Given the description of an element on the screen output the (x, y) to click on. 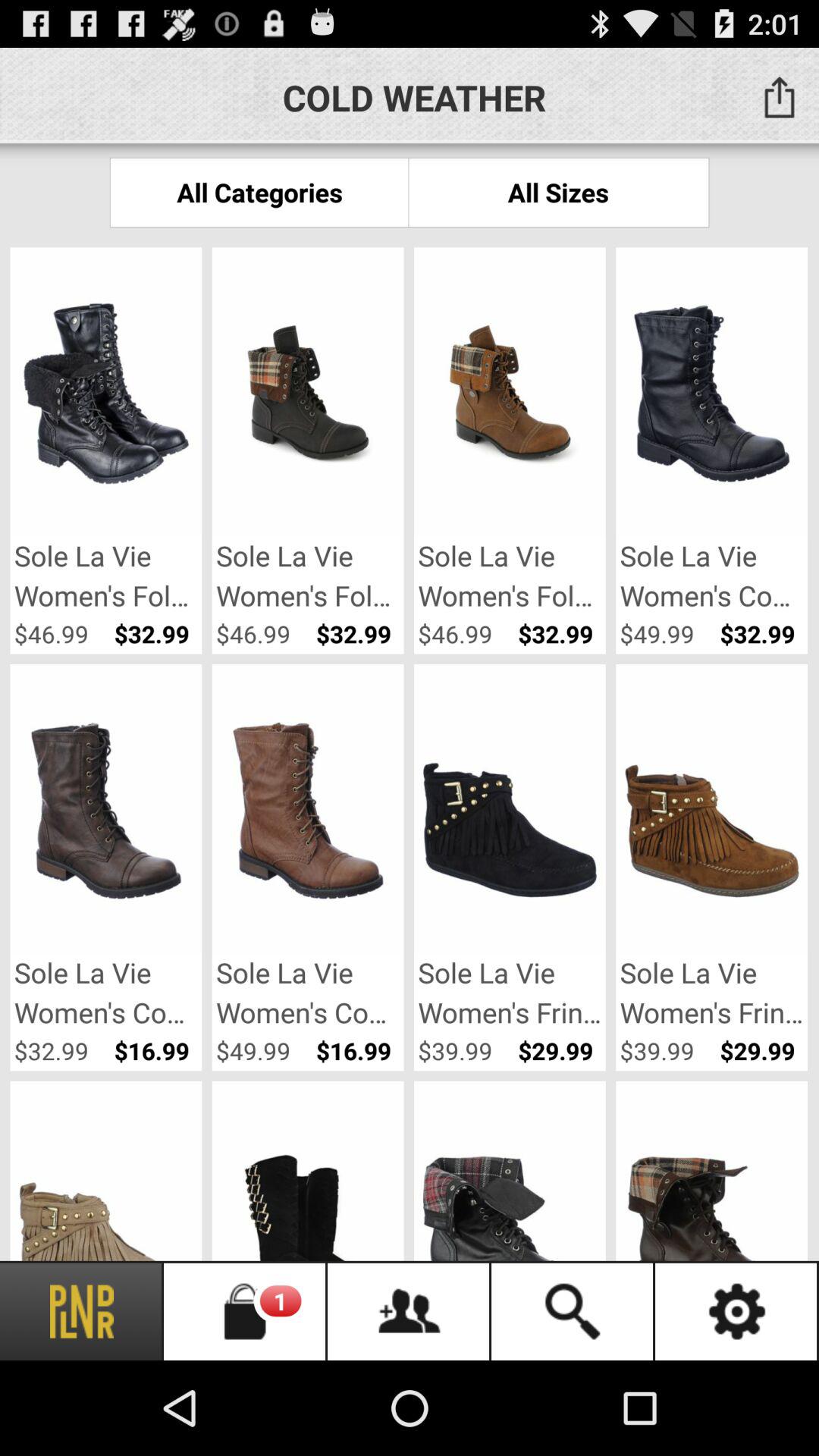
select all categories app (259, 192)
